Given the description of an element on the screen output the (x, y) to click on. 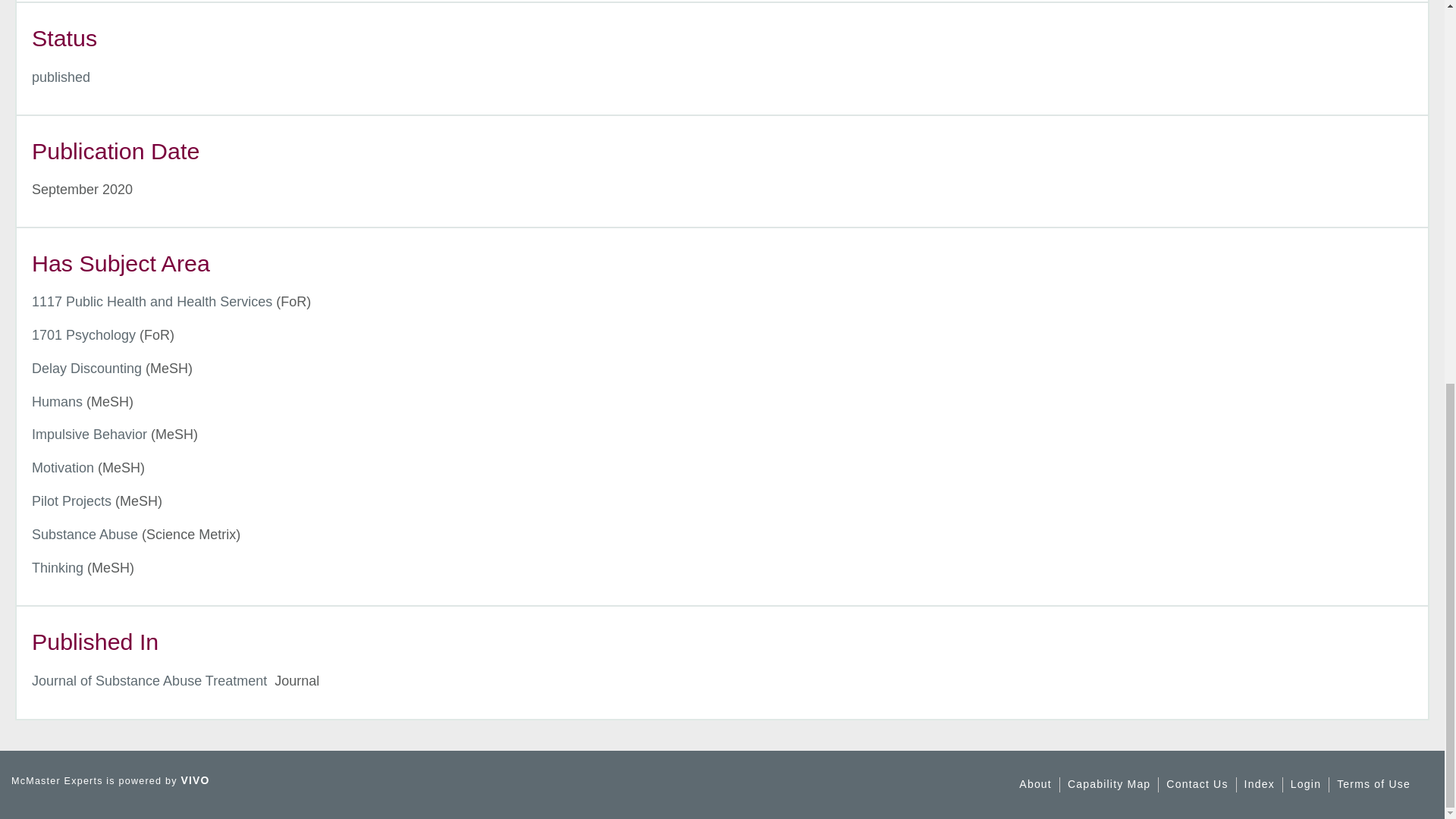
1701 Psychology (83, 335)
Thinking (57, 567)
Substance Abuse (85, 534)
concept name (83, 335)
concept name (63, 467)
Delay Discounting (86, 368)
name (61, 77)
Terms of Use (1373, 784)
Capability Map (1108, 784)
concept name (152, 301)
